Given the description of an element on the screen output the (x, y) to click on. 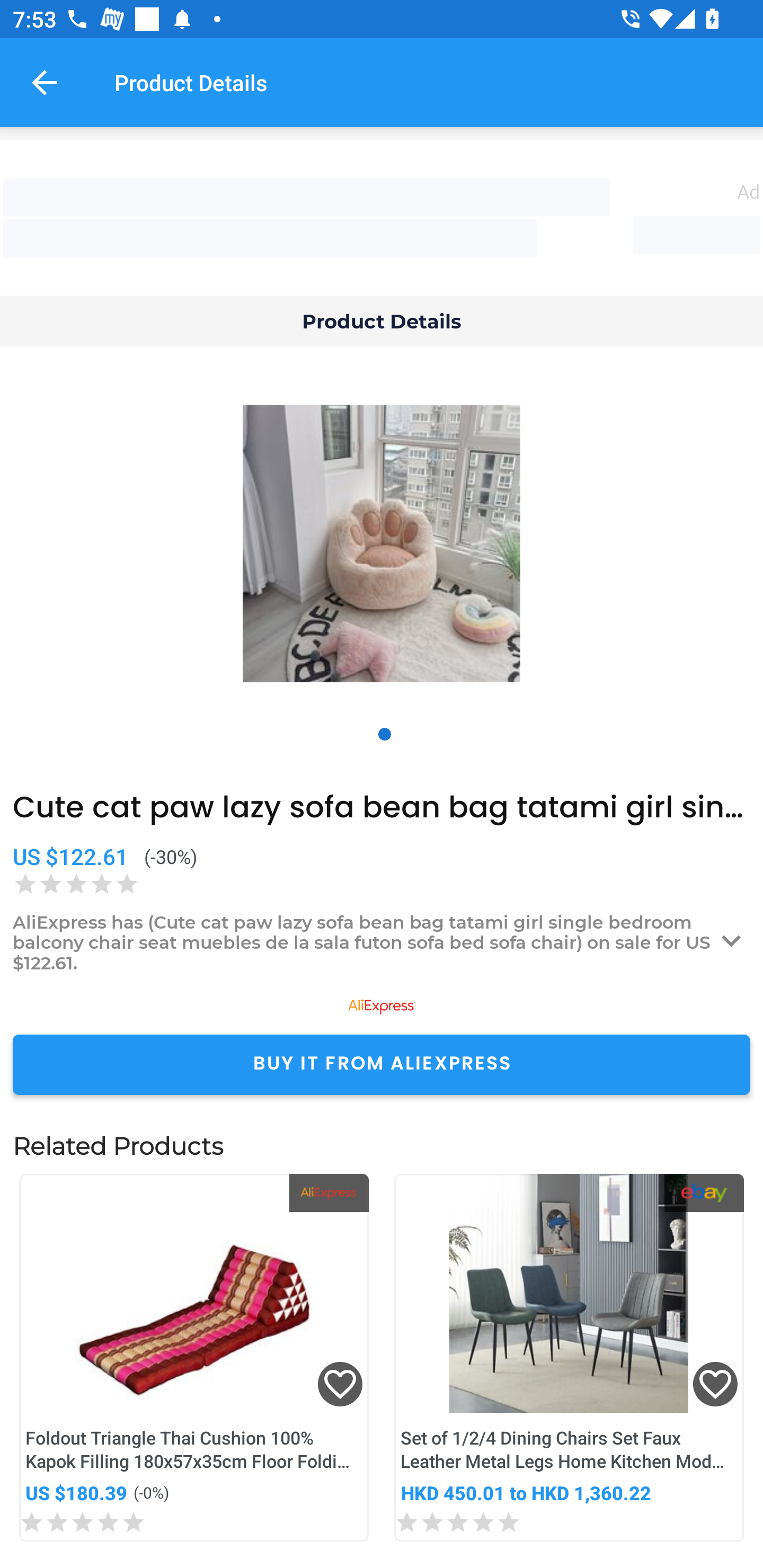
Navigate up (44, 82)
BUY IT FROM ALIEXPRESS (381, 1064)
